Given the description of an element on the screen output the (x, y) to click on. 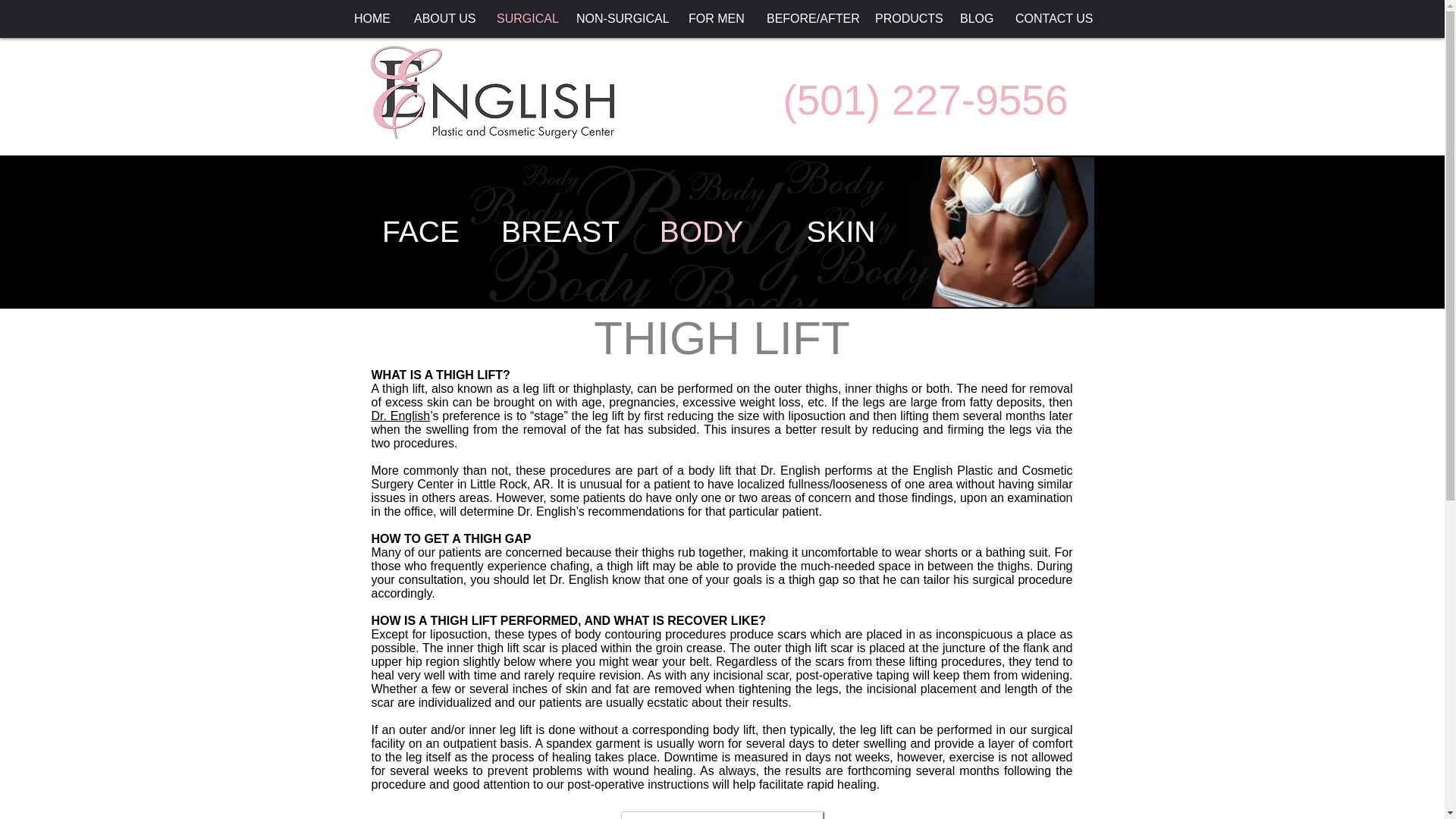
ABOUT US (442, 18)
HOME (371, 18)
SURGICAL (524, 18)
